Given the description of an element on the screen output the (x, y) to click on. 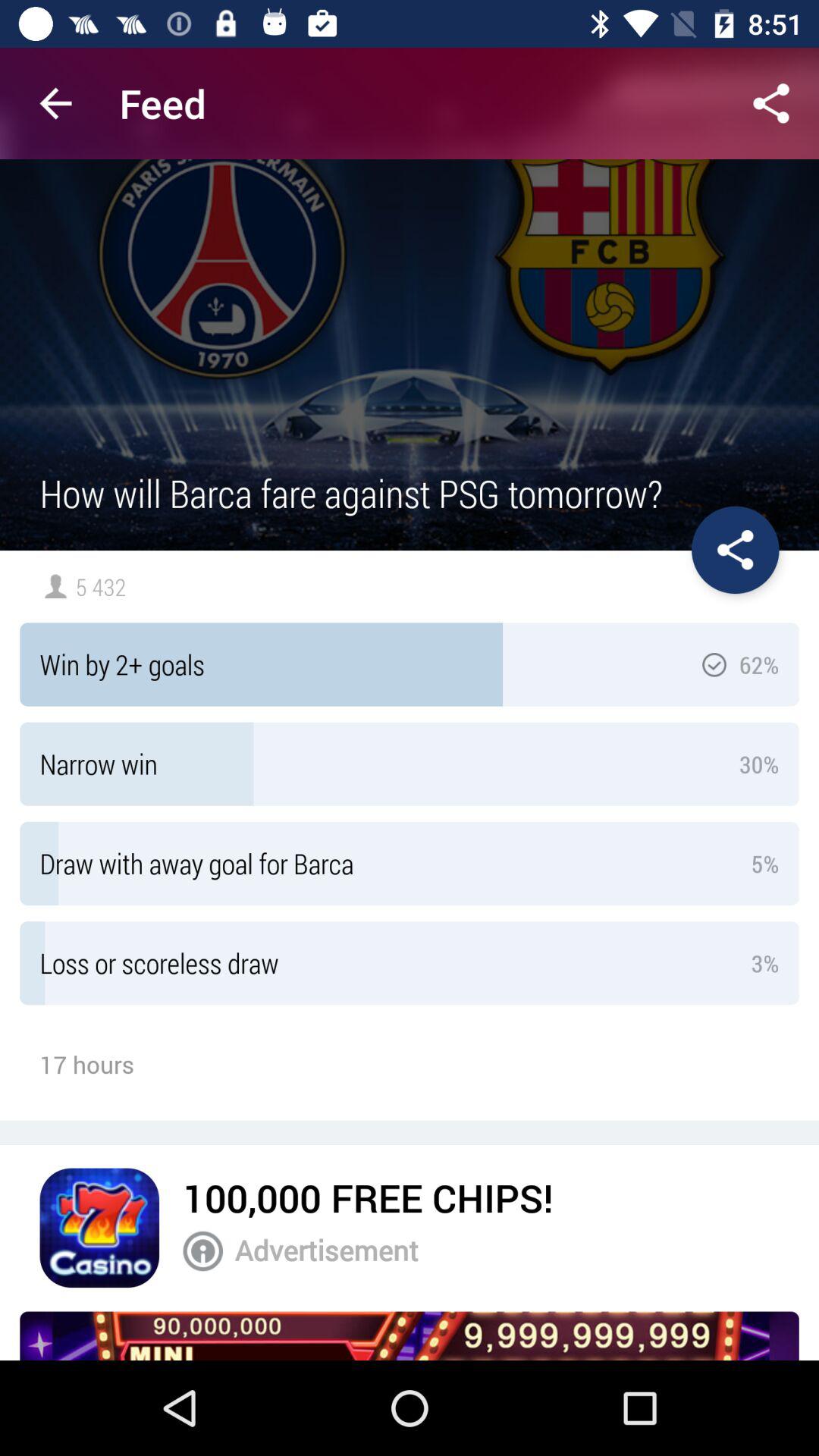
share feed (771, 103)
